Given the description of an element on the screen output the (x, y) to click on. 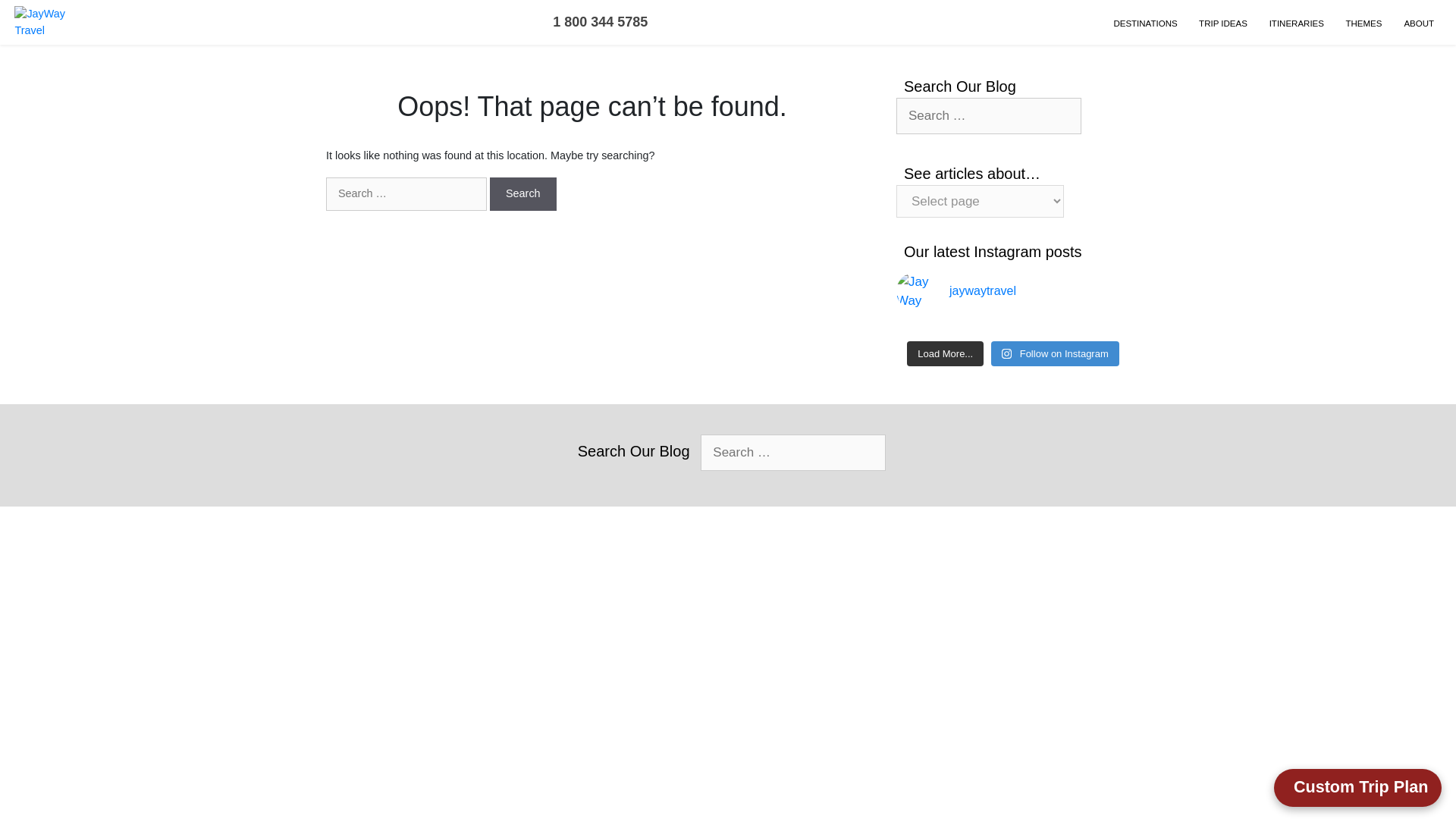
DESTINATIONS (1145, 24)
Search (522, 193)
TRIP IDEAS (1223, 24)
Search for: (988, 115)
1 800 344 5785 (597, 21)
Search for: (406, 193)
Search (522, 193)
Search for: (792, 452)
